Given the description of an element on the screen output the (x, y) to click on. 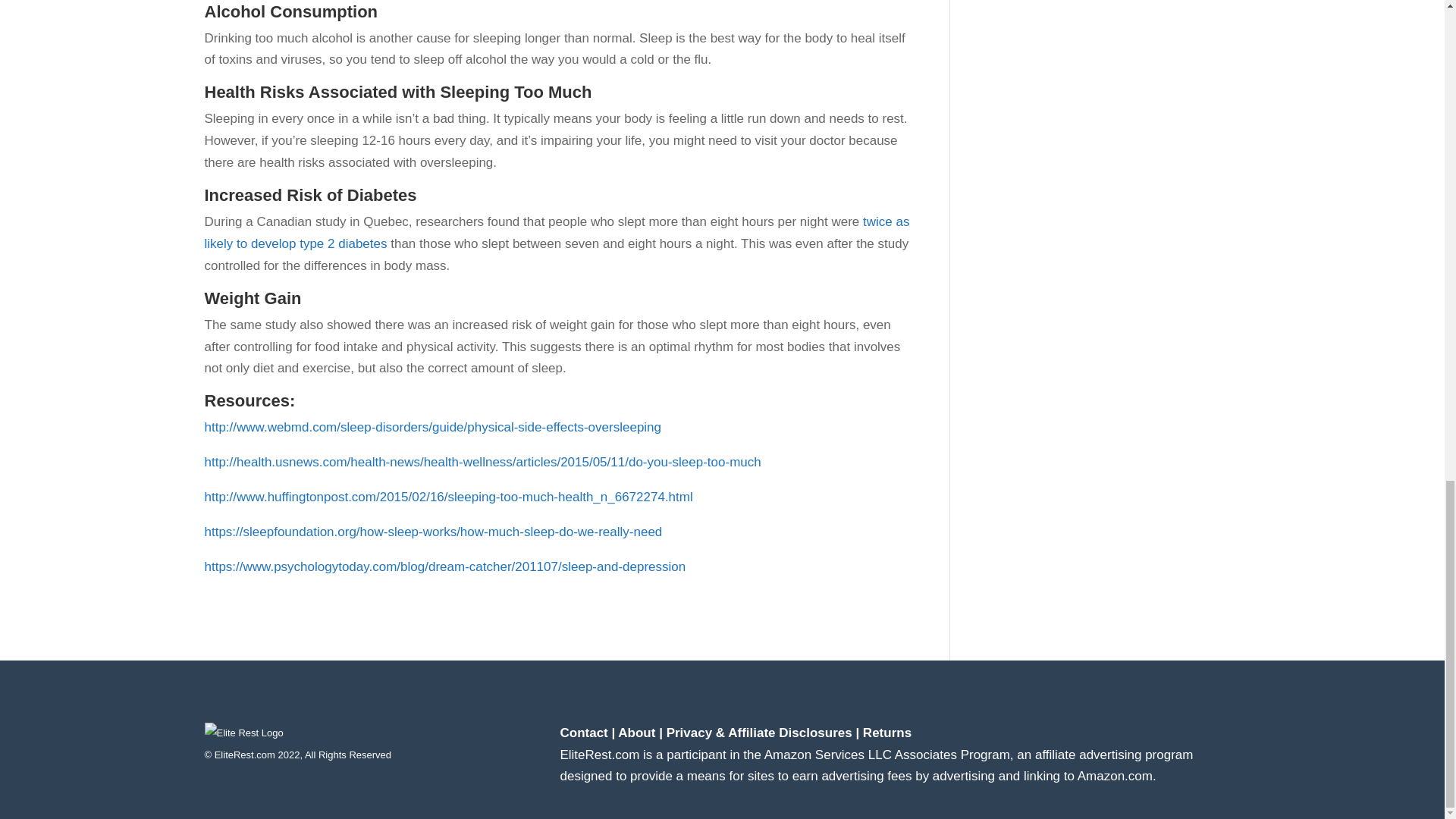
About (636, 732)
Privacy (758, 732)
Returns (887, 732)
Contact (583, 732)
twice as likely to develop type 2 diabetes (557, 232)
About (636, 732)
Contact (583, 732)
Returns (887, 732)
